Given the description of an element on the screen output the (x, y) to click on. 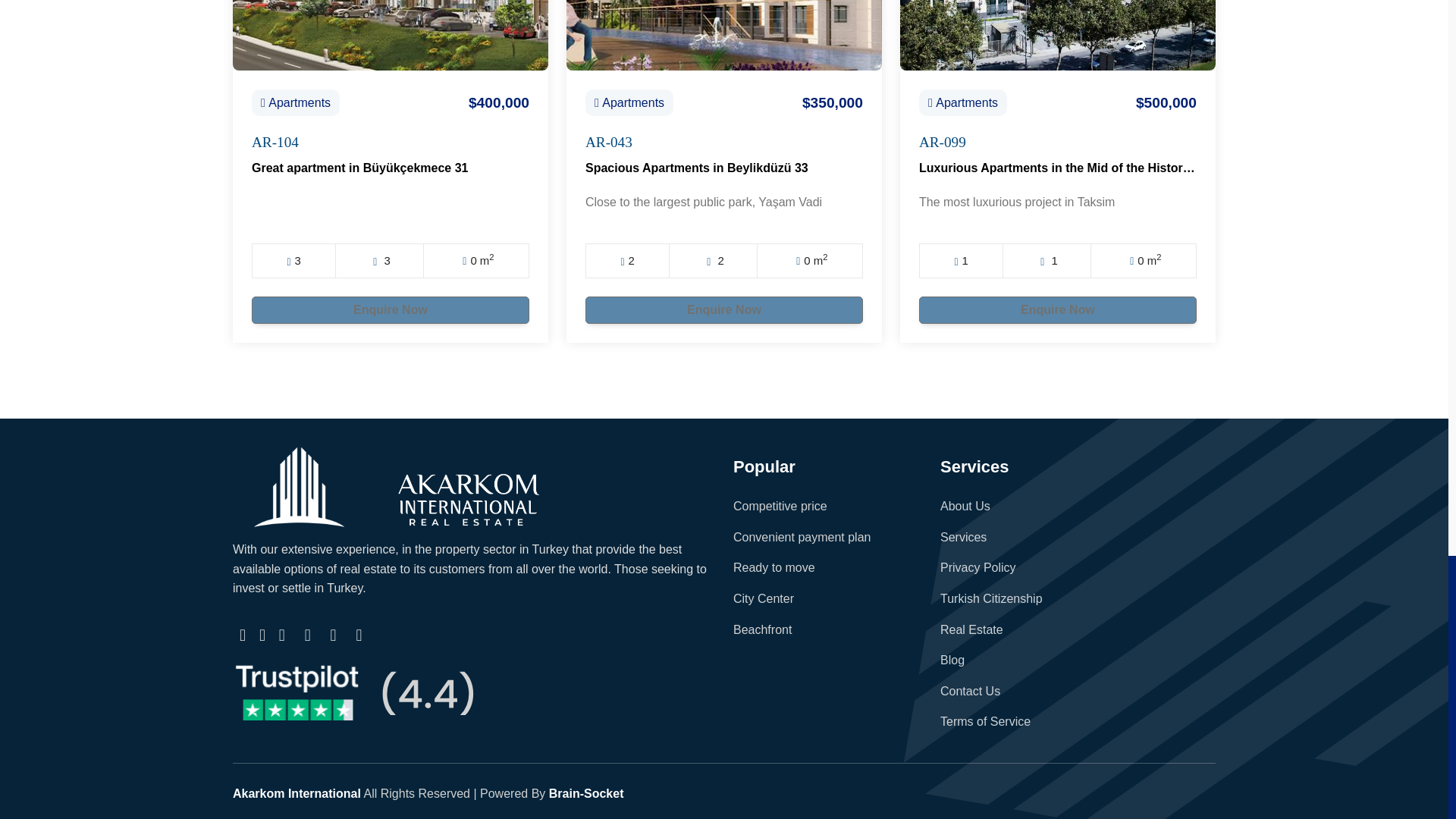
Beachfront (762, 629)
Real Estate (971, 629)
About Us (965, 505)
Services (963, 536)
Enquire Now (390, 309)
Competitive price (780, 505)
Privacy Policy (978, 567)
Convenient payment plan (801, 536)
Luxurious Apartments in the Mid of the Historical Taksim 57 (1090, 167)
Ready to move (774, 567)
City Center (763, 598)
Enquire Now (1057, 309)
Blog (951, 659)
Enquire Now (724, 309)
Turkish Citizenship (991, 598)
